Given the description of an element on the screen output the (x, y) to click on. 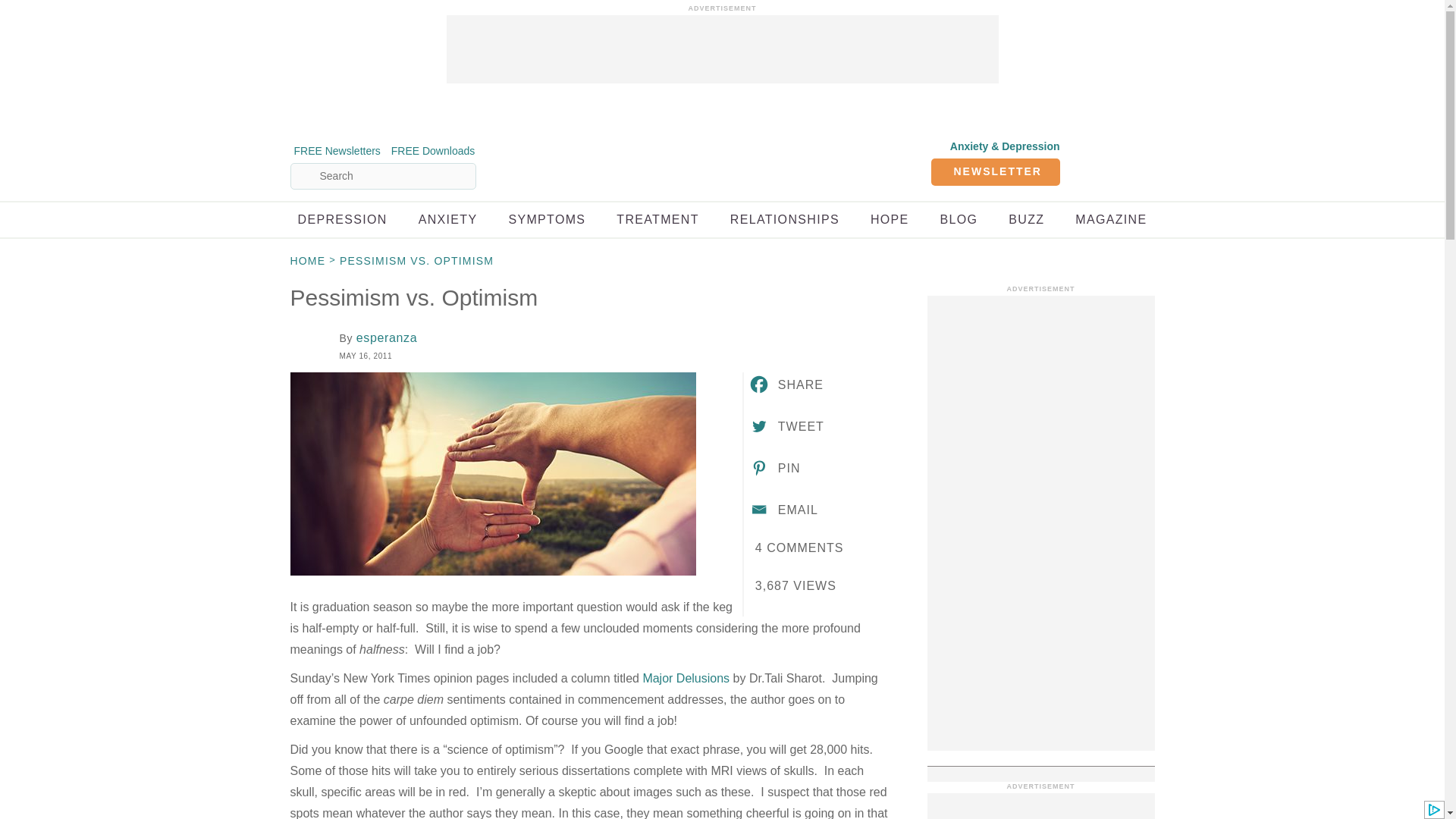
Email (783, 508)
DEPRESSION (342, 219)
Twitter (786, 425)
SYMPTOMS (546, 219)
Pinterest (774, 467)
Facebook (786, 384)
ANXIETY (448, 219)
TREATMENT (656, 219)
RELATIONSHIPS (785, 219)
